Given the description of an element on the screen output the (x, y) to click on. 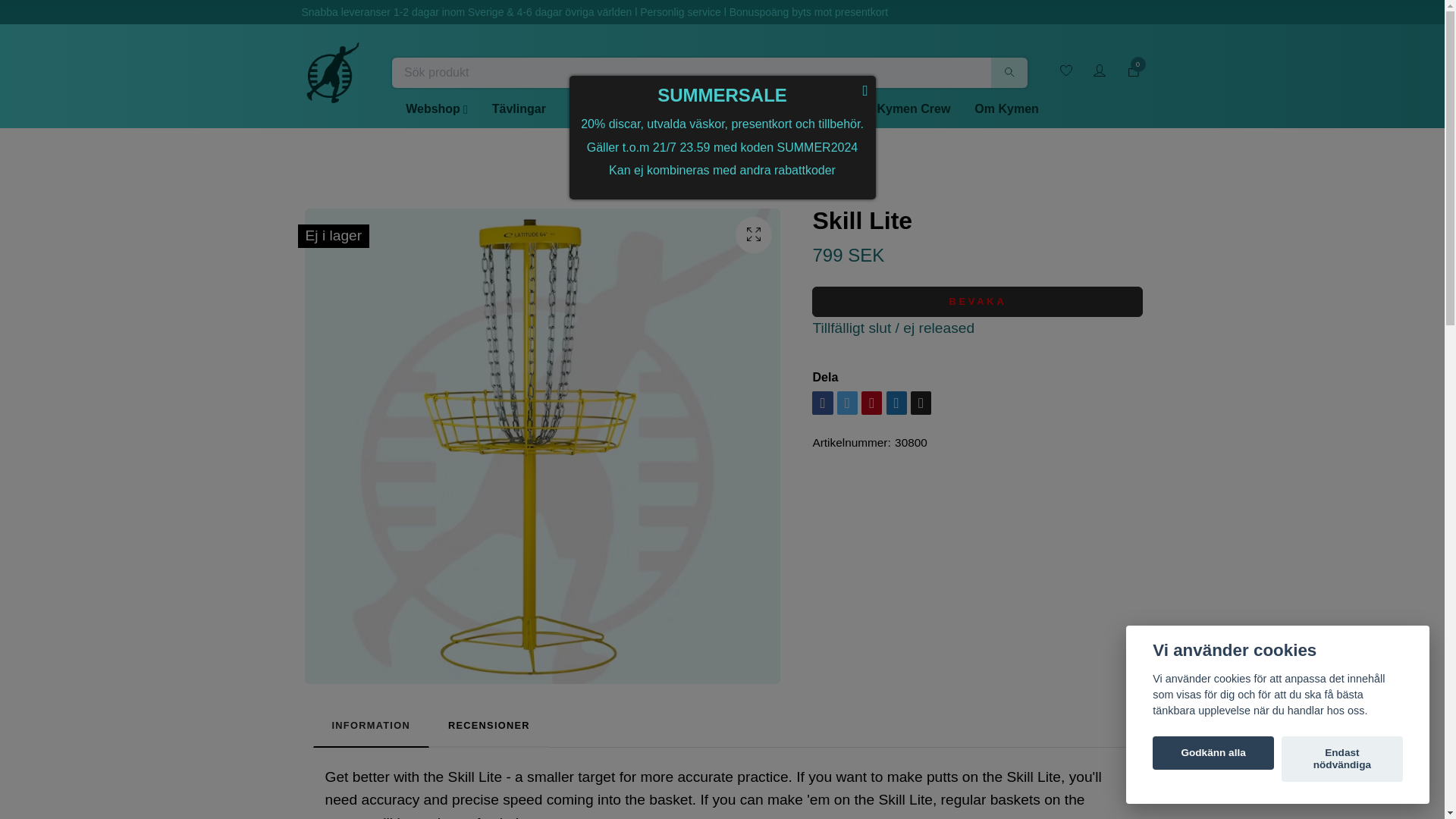
Om Kymen (1005, 109)
Kalender (826, 109)
Webshop (436, 109)
0 (1132, 70)
Sponsring (746, 109)
Discgolfinstruktioner (630, 109)
Kymen Crew (913, 109)
